Given the description of an element on the screen output the (x, y) to click on. 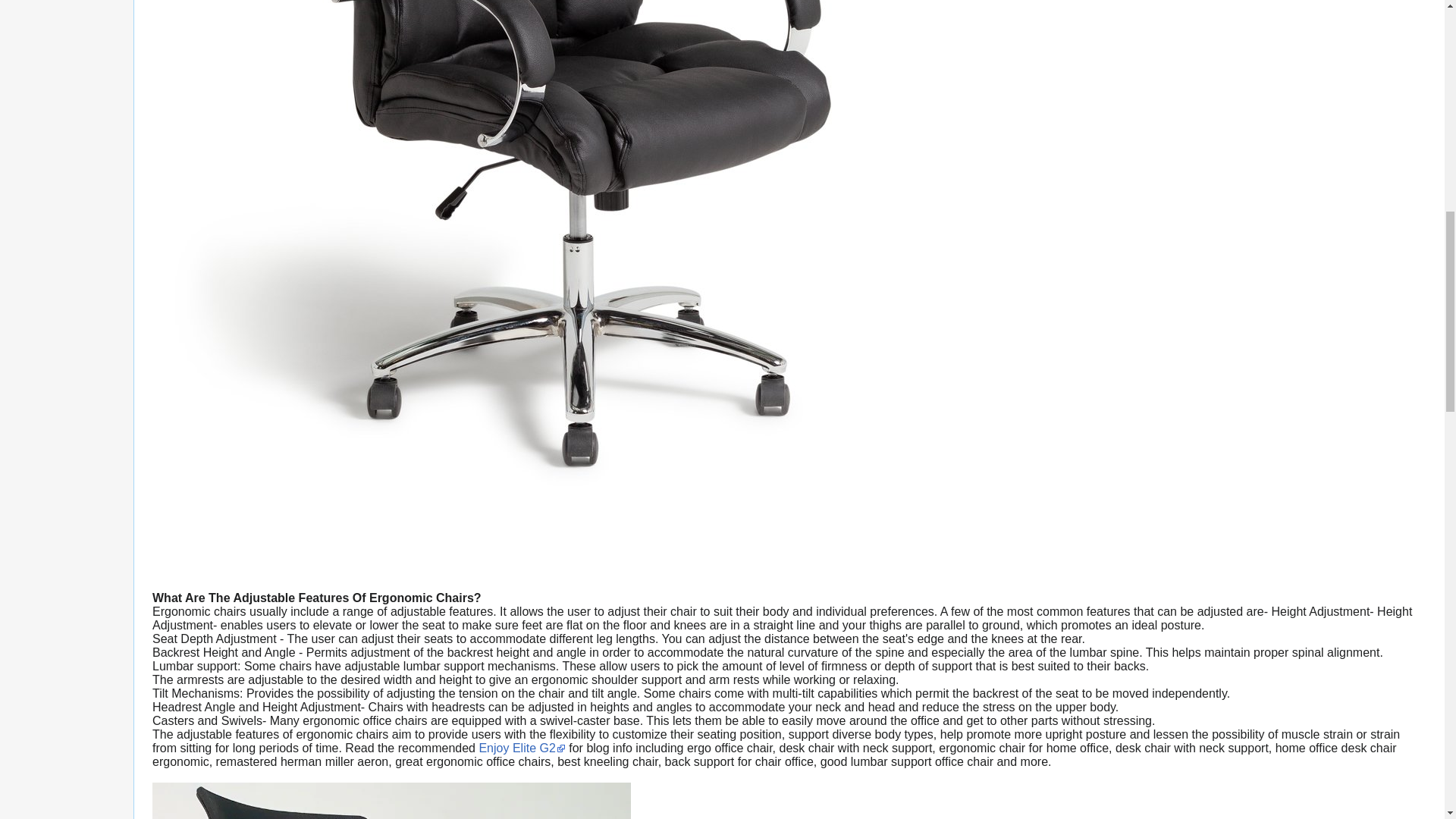
Enjoy Elite G2 (521, 748)
